Given the description of an element on the screen output the (x, y) to click on. 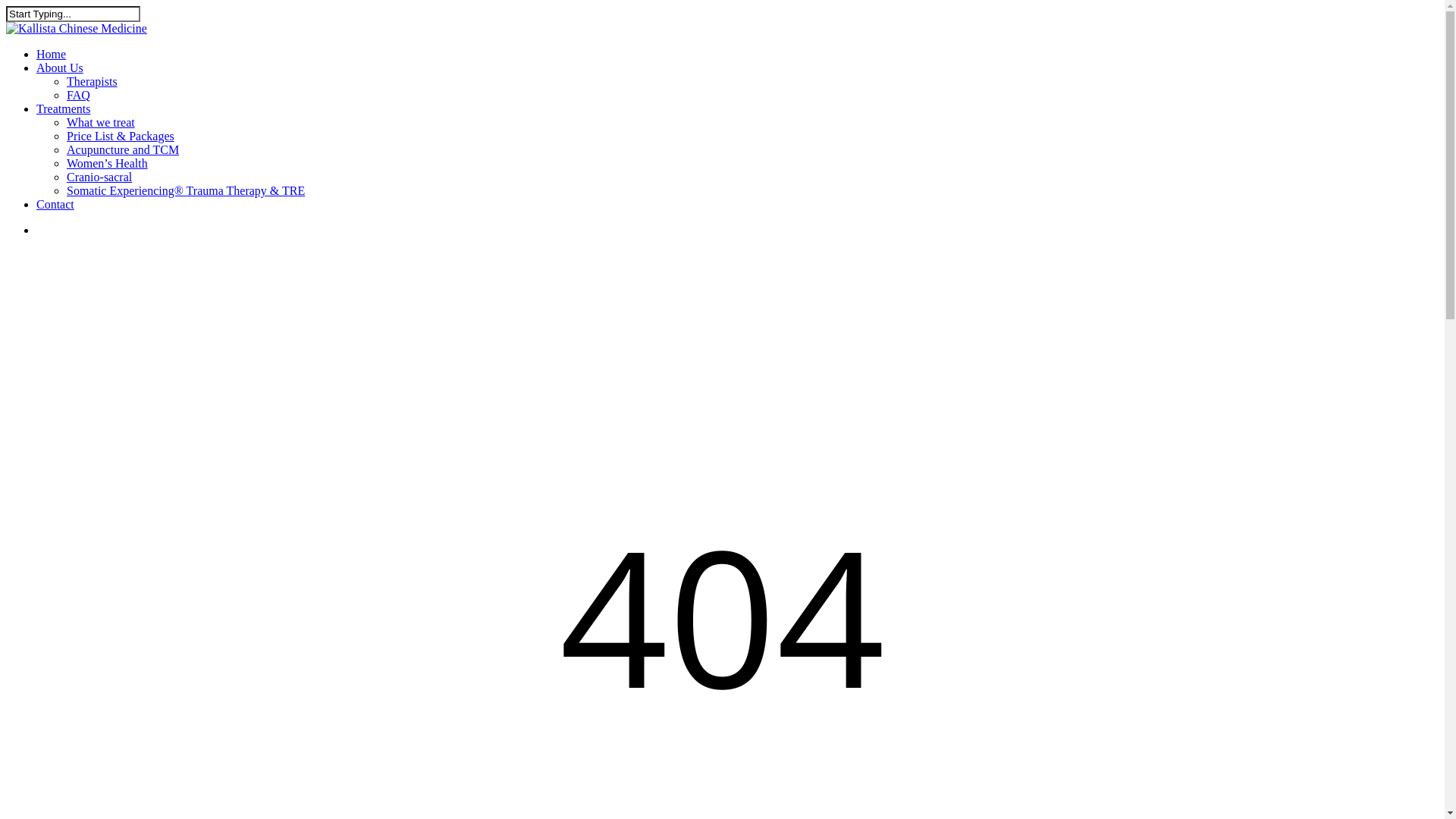
Treatments Element type: text (63, 108)
Home Element type: text (50, 53)
Therapists Element type: text (91, 81)
Acupuncture and TCM Element type: text (122, 149)
Cranio-sacral Element type: text (98, 176)
Price List & Packages Element type: text (120, 135)
Skip to main content Element type: text (5, 5)
FAQ Element type: text (78, 94)
What we treat Element type: text (100, 122)
Contact Element type: text (55, 203)
About Us Element type: text (59, 67)
